Given the description of an element on the screen output the (x, y) to click on. 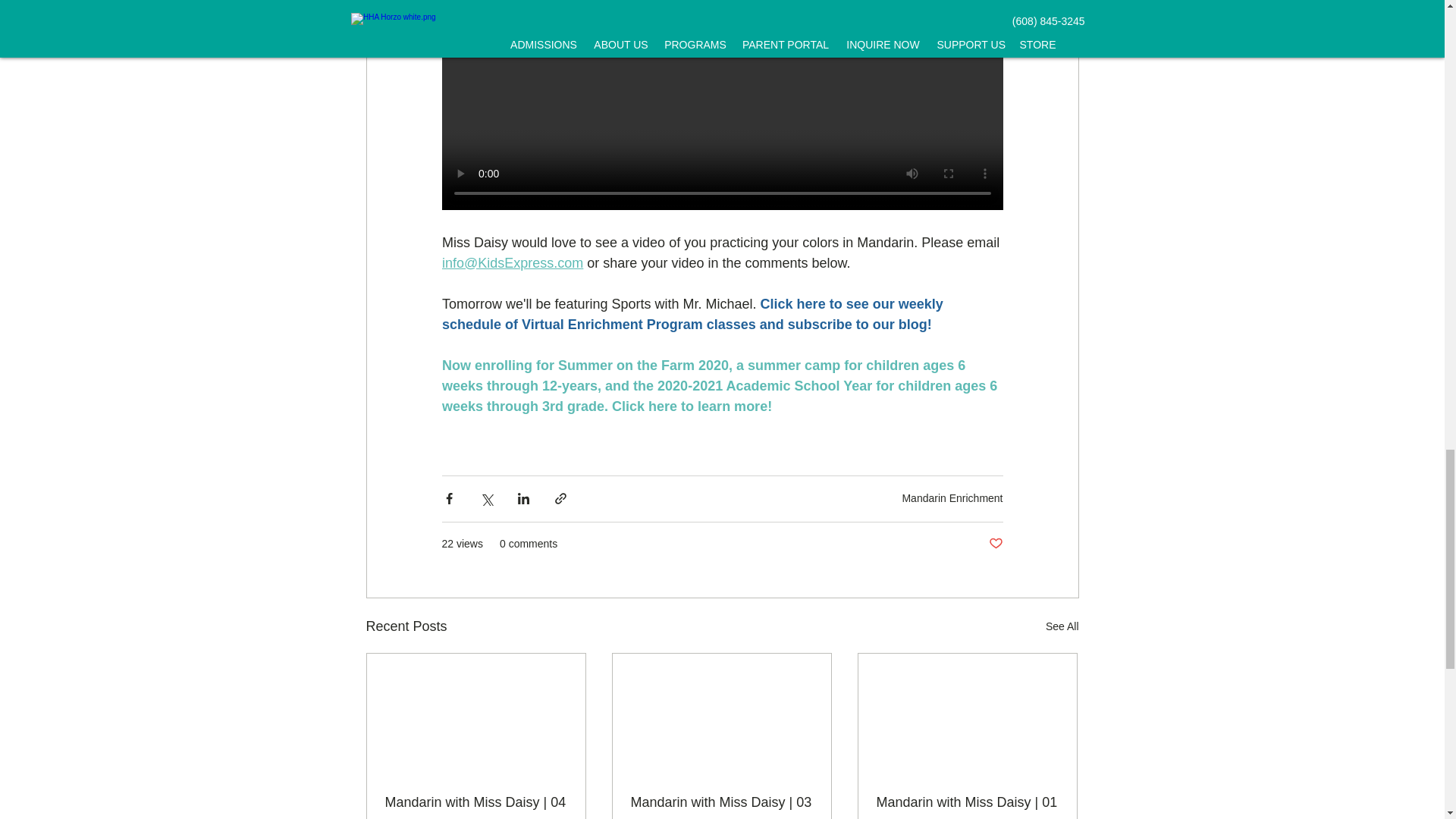
Mandarin Enrichment (952, 498)
See All (1061, 626)
Post not marked as liked (995, 543)
